Given the description of an element on the screen output the (x, y) to click on. 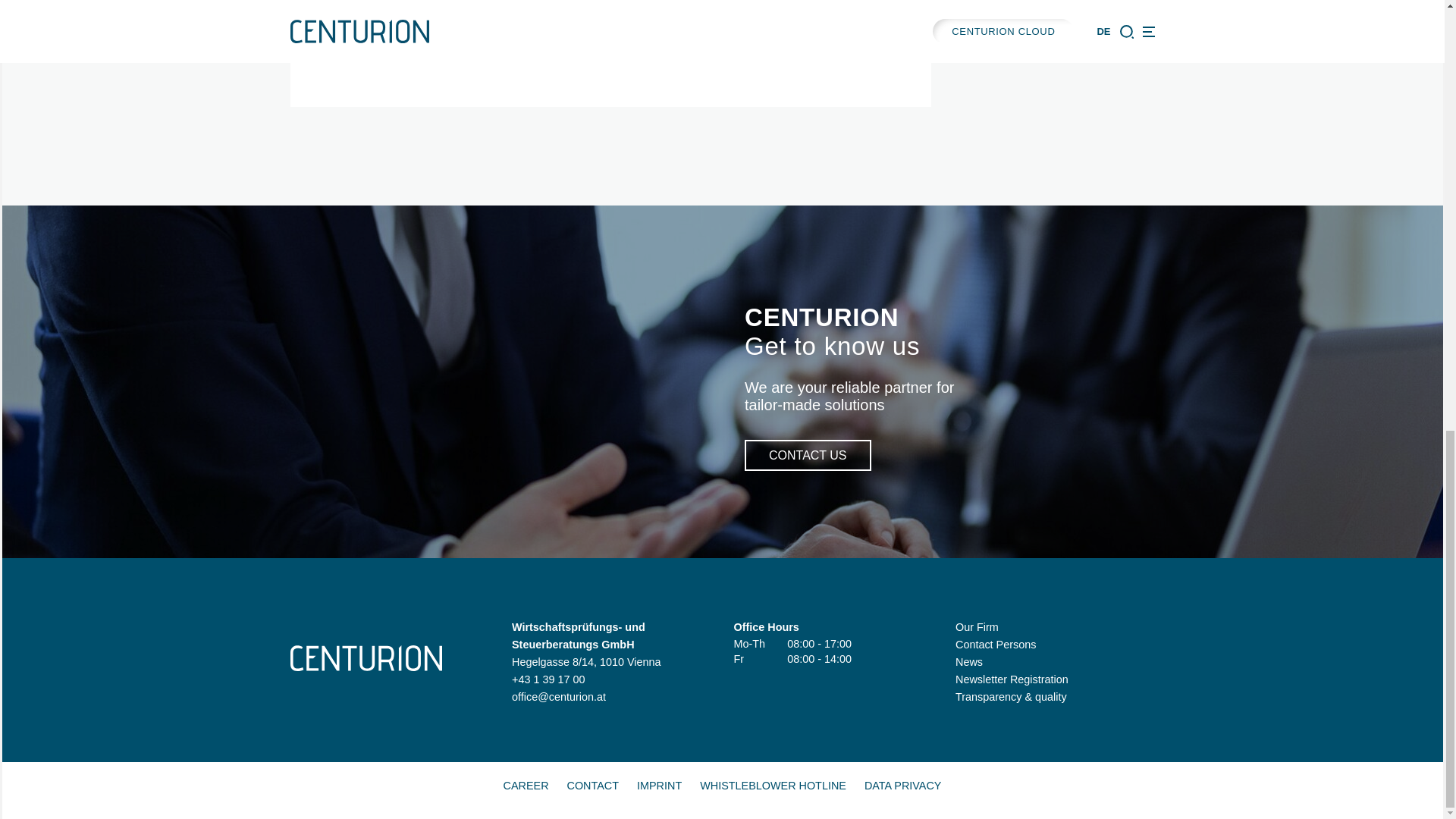
CONTACT (592, 785)
DATA PRIVACY (903, 785)
Contact Persons (995, 644)
Carrier (526, 785)
Our Firm (976, 626)
CAREER (526, 785)
Contact (592, 785)
Whistleblower Hotline (773, 785)
Newsletter Registration (1011, 679)
